Given the description of an element on the screen output the (x, y) to click on. 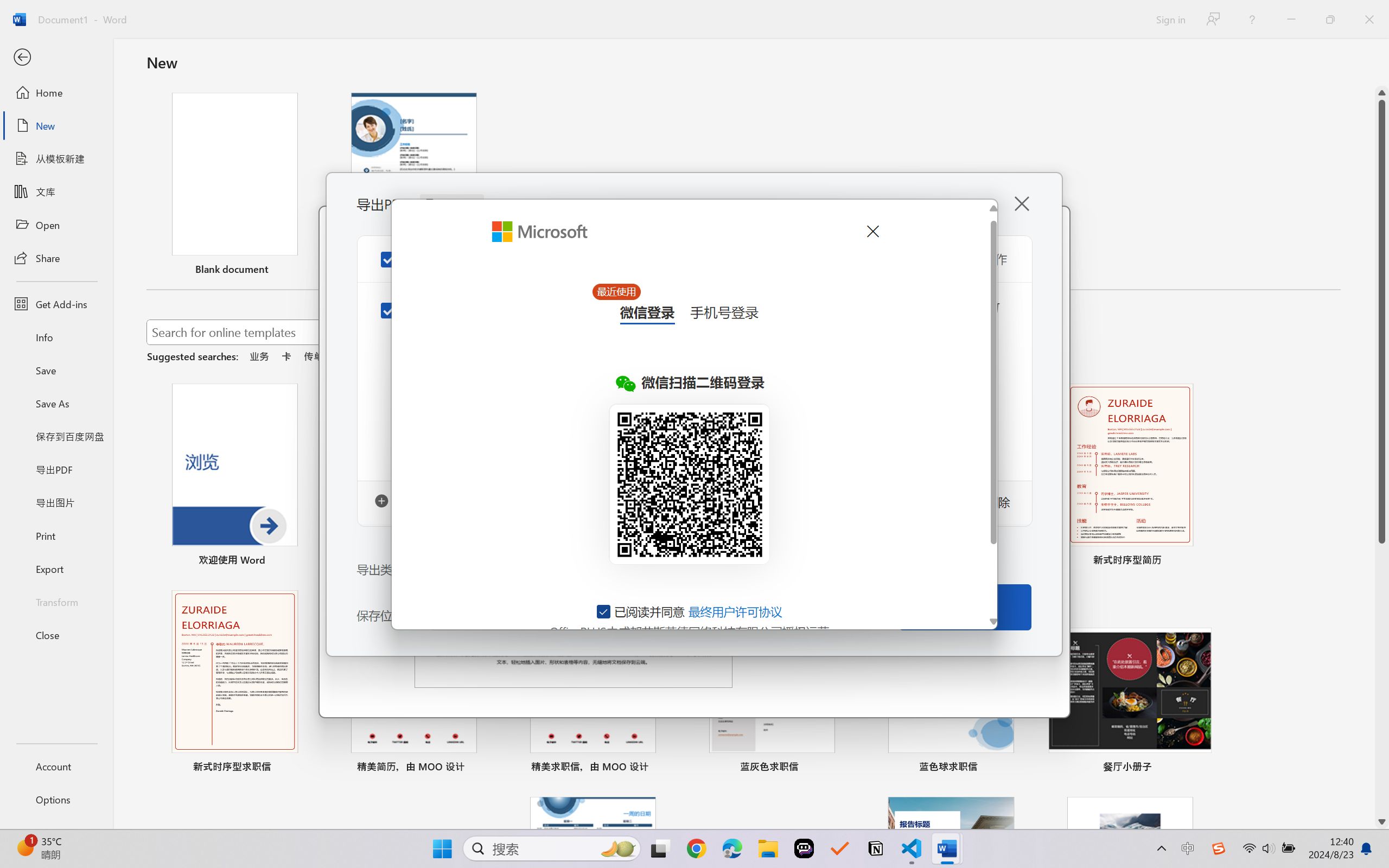
Next Template (1046, 479)
Blank document (234, 185)
Microsoft Edge (731, 848)
